Given the description of an element on the screen output the (x, y) to click on. 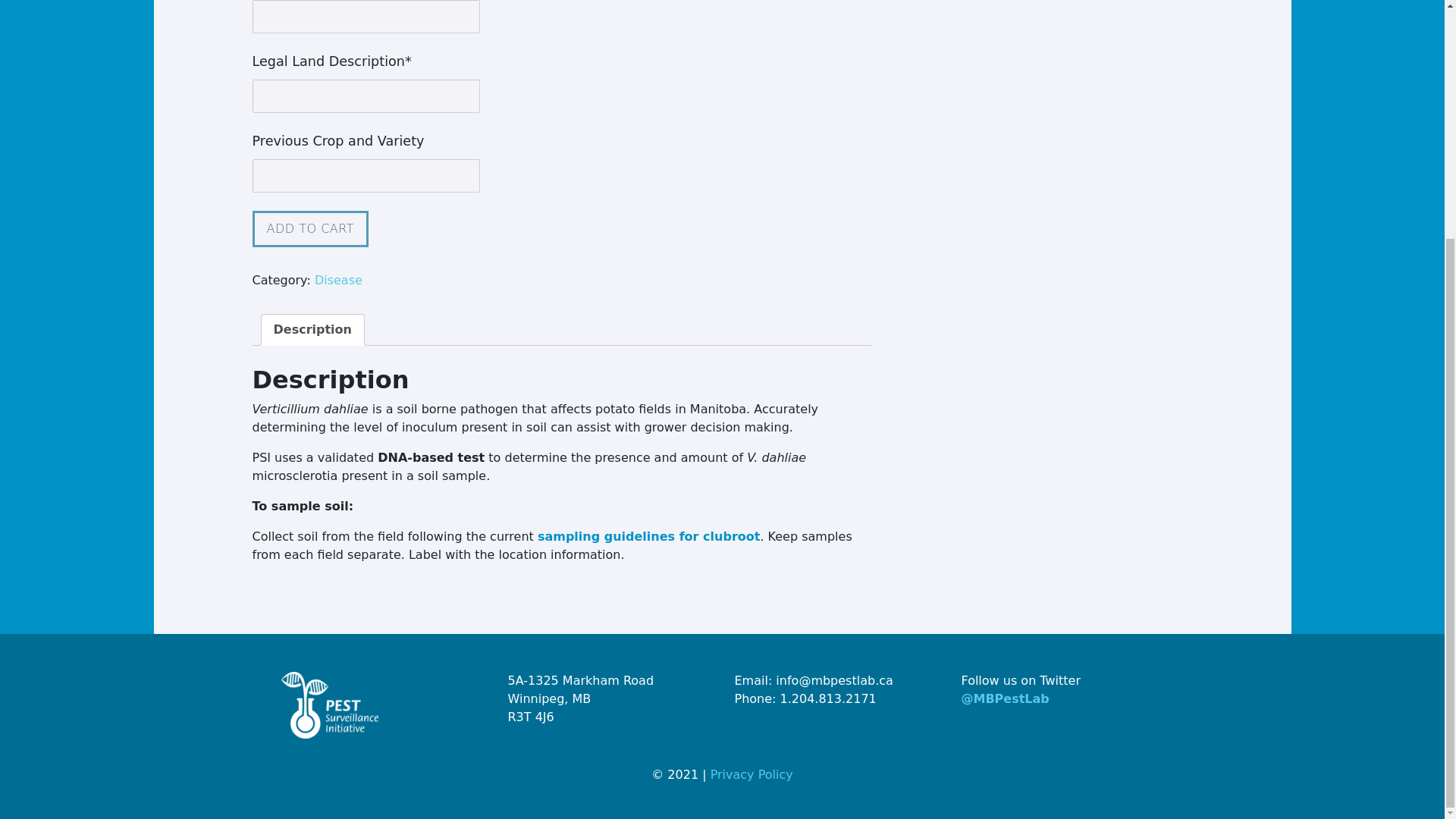
ADD TO CART (309, 228)
Privacy Policy (751, 774)
sampling guidelines for clubroot (648, 536)
Description (311, 329)
Disease (338, 279)
